Given the description of an element on the screen output the (x, y) to click on. 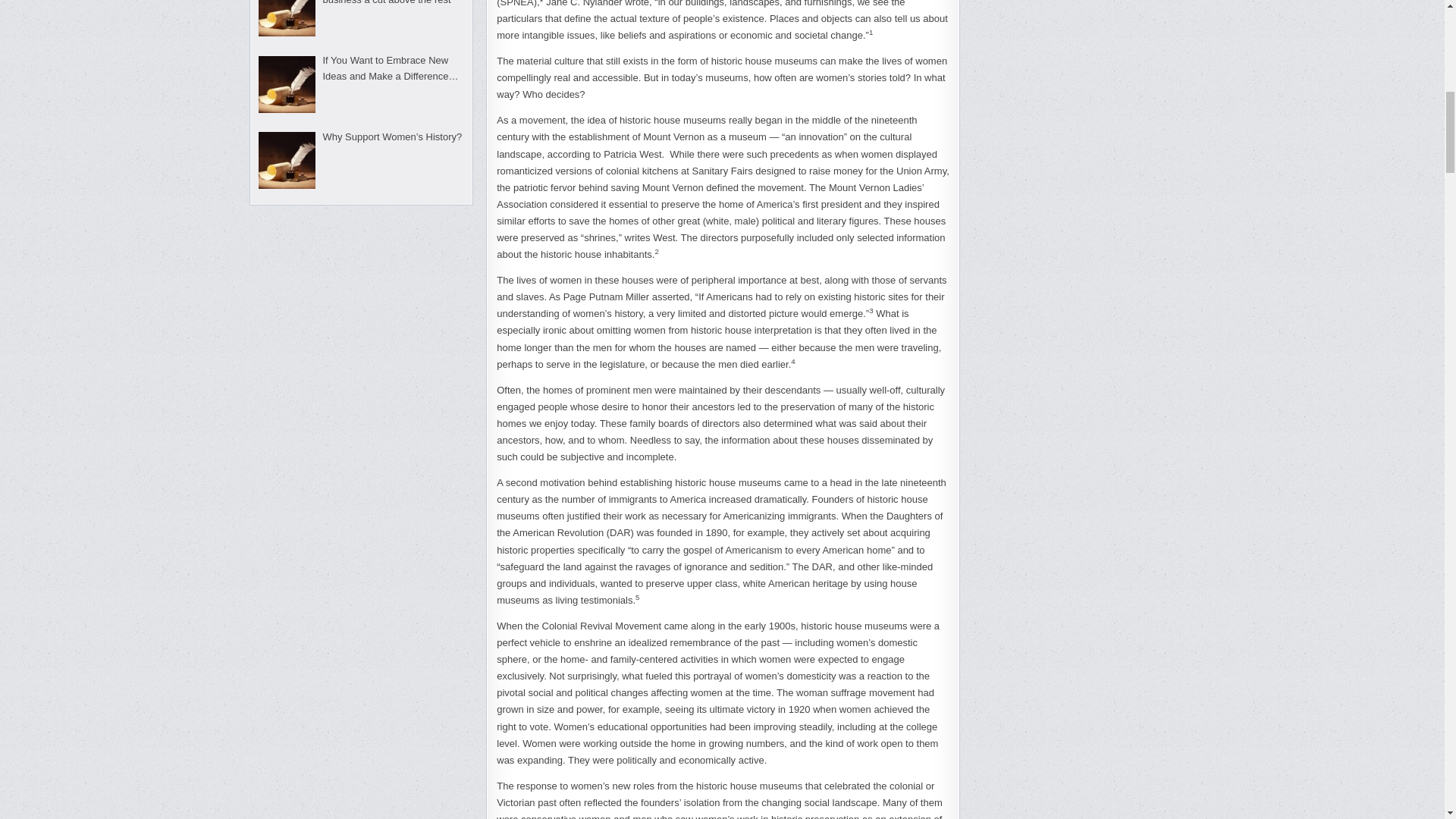
Using history to put your business a cut above the rest (387, 2)
